Given the description of an element on the screen output the (x, y) to click on. 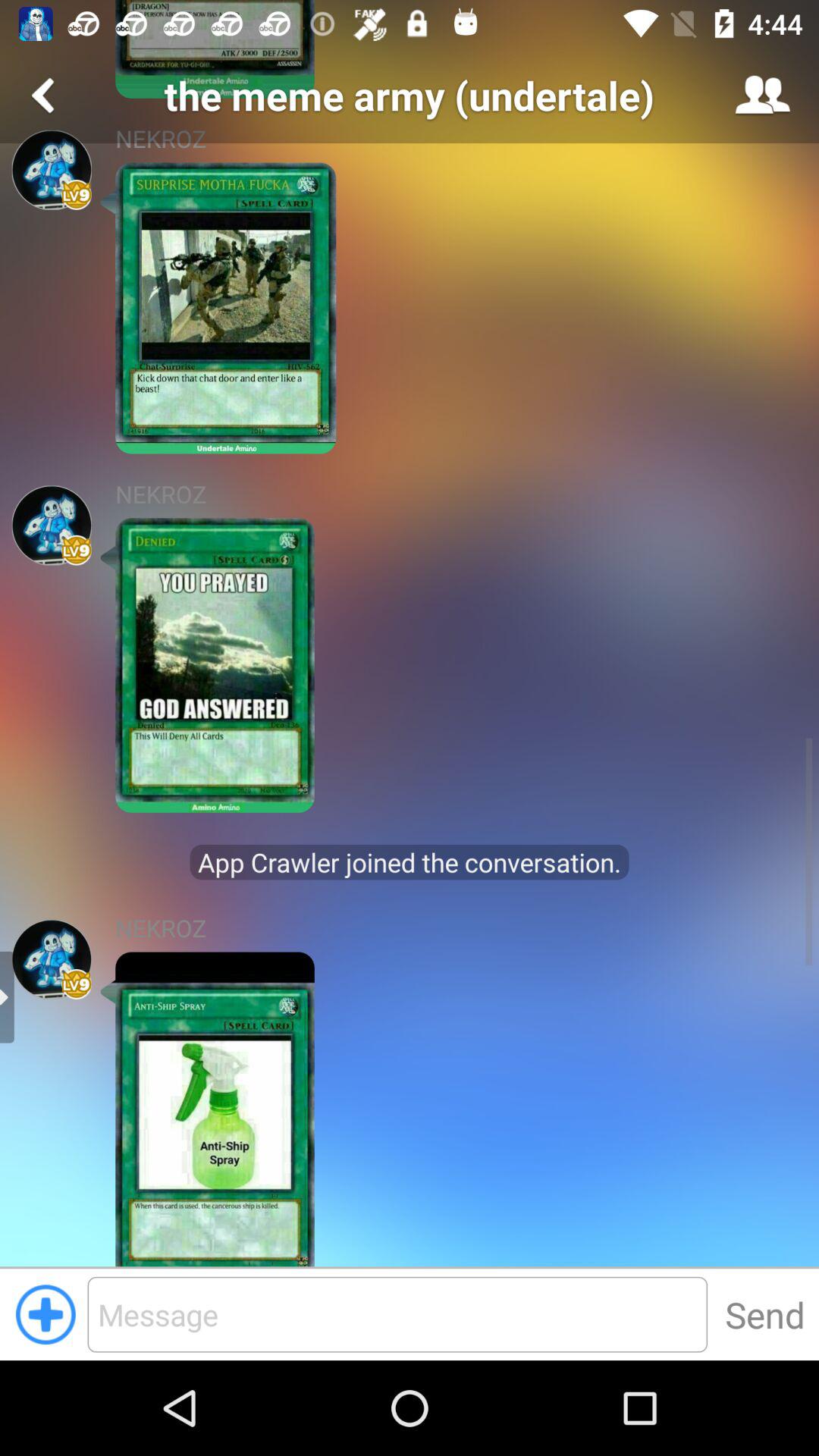
see the profile (51, 959)
